Given the description of an element on the screen output the (x, y) to click on. 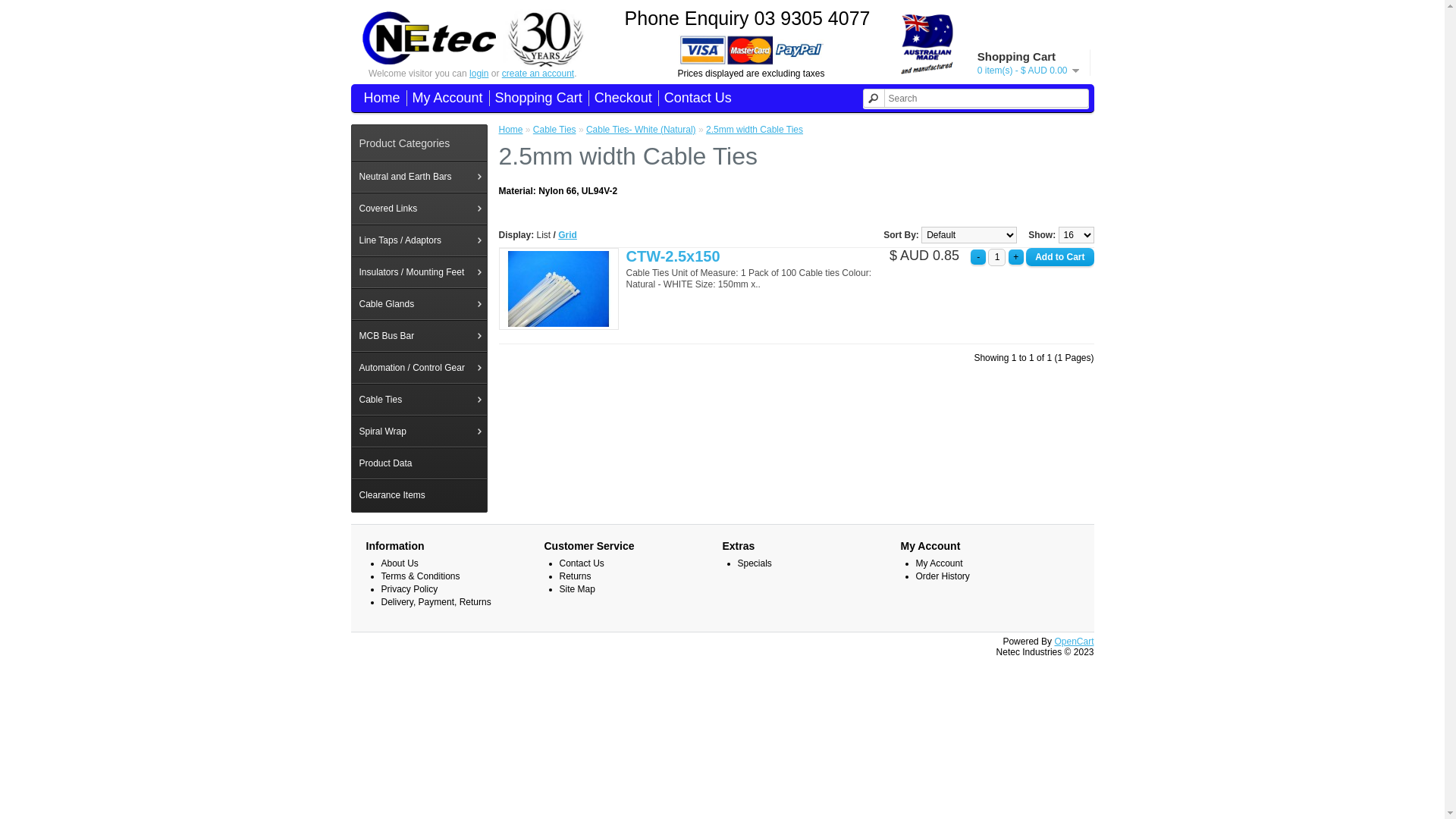
Line Taps / Adaptors Element type: text (418, 240)
Cable Ties Element type: text (554, 129)
Home Element type: text (510, 129)
About Us Element type: text (398, 563)
Cable Ties Element type: text (418, 399)
CTW-2.5x150 Element type: text (673, 255)
My Account Element type: text (444, 98)
My Account Element type: text (939, 563)
Cable Ties- White (Natural) Element type: text (641, 129)
Insulators / Mounting Feet Element type: text (418, 272)
Contact Us Element type: text (581, 563)
Cable Glands Element type: text (418, 304)
Neutral and Earth Bars Element type: text (418, 176)
Grid Element type: text (567, 234)
Specials Element type: text (754, 563)
login Element type: text (478, 73)
Add to Cart Element type: text (1059, 256)
Netec Industries Element type: hover (428, 37)
Delivery, Payment, Returns Element type: text (435, 601)
Clearance Items Element type: text (418, 494)
Privacy Policy Element type: text (408, 588)
Contact Us Element type: text (694, 98)
Site Map Element type: text (577, 588)
Product Data Element type: text (418, 463)
0 item(s) - $ AUD 0.00 Element type: text (1028, 70)
Covered Links Element type: text (418, 208)
Terms & Conditions Element type: text (419, 576)
CTW-2.5x150 Element type: hover (558, 288)
Spiral Wrap Element type: text (418, 431)
Shopping Cart Element type: text (535, 98)
Automation / Control Gear Element type: text (418, 367)
Order History Element type: text (942, 576)
Checkout Element type: text (620, 98)
Returns Element type: text (575, 576)
Paypal Secure Payment System Element type: hover (751, 49)
- Element type: text (977, 256)
MCB Bus Bar Element type: text (418, 335)
over 30 years of production! Element type: hover (544, 39)
2.5mm width Cable Ties Element type: text (754, 129)
OpenCart Element type: text (1073, 641)
25th year of production! Element type: hover (927, 43)
Home Element type: text (378, 98)
+ Element type: text (1015, 256)
create an account Element type: text (538, 73)
